Given the description of an element on the screen output the (x, y) to click on. 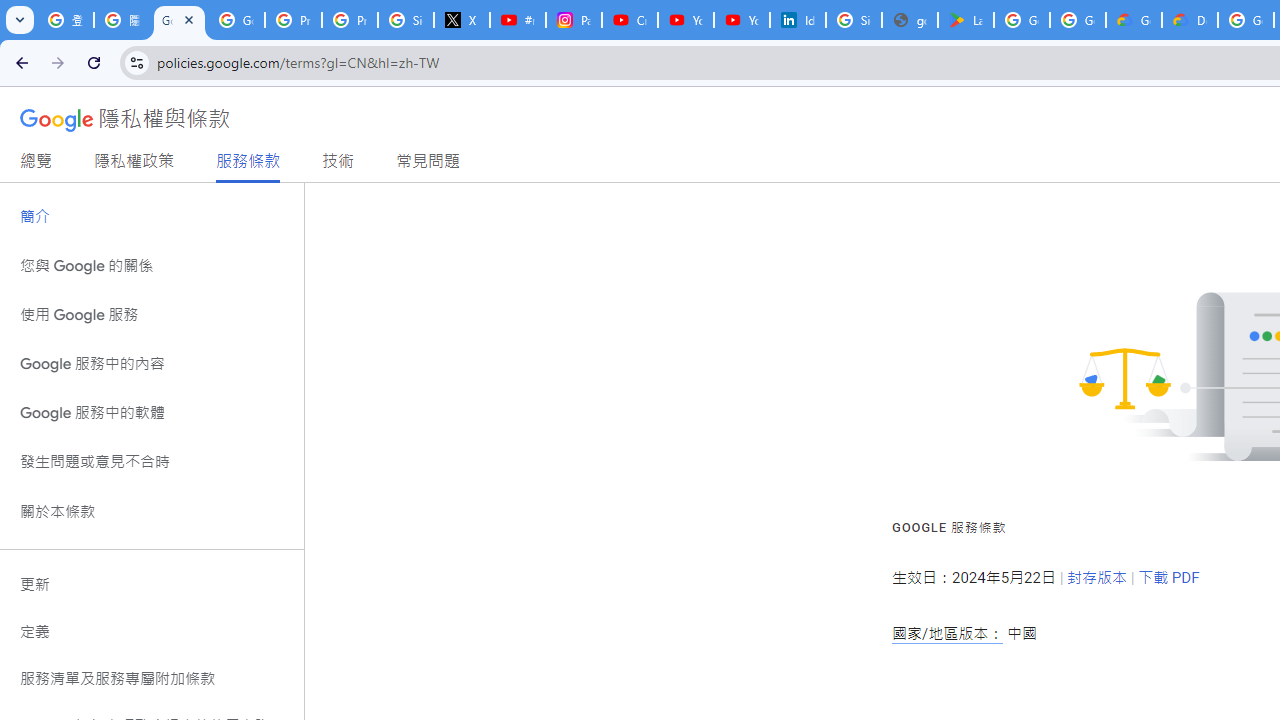
Government | Google Cloud (1133, 20)
google_privacy_policy_en.pdf (909, 20)
